Given the description of an element on the screen output the (x, y) to click on. 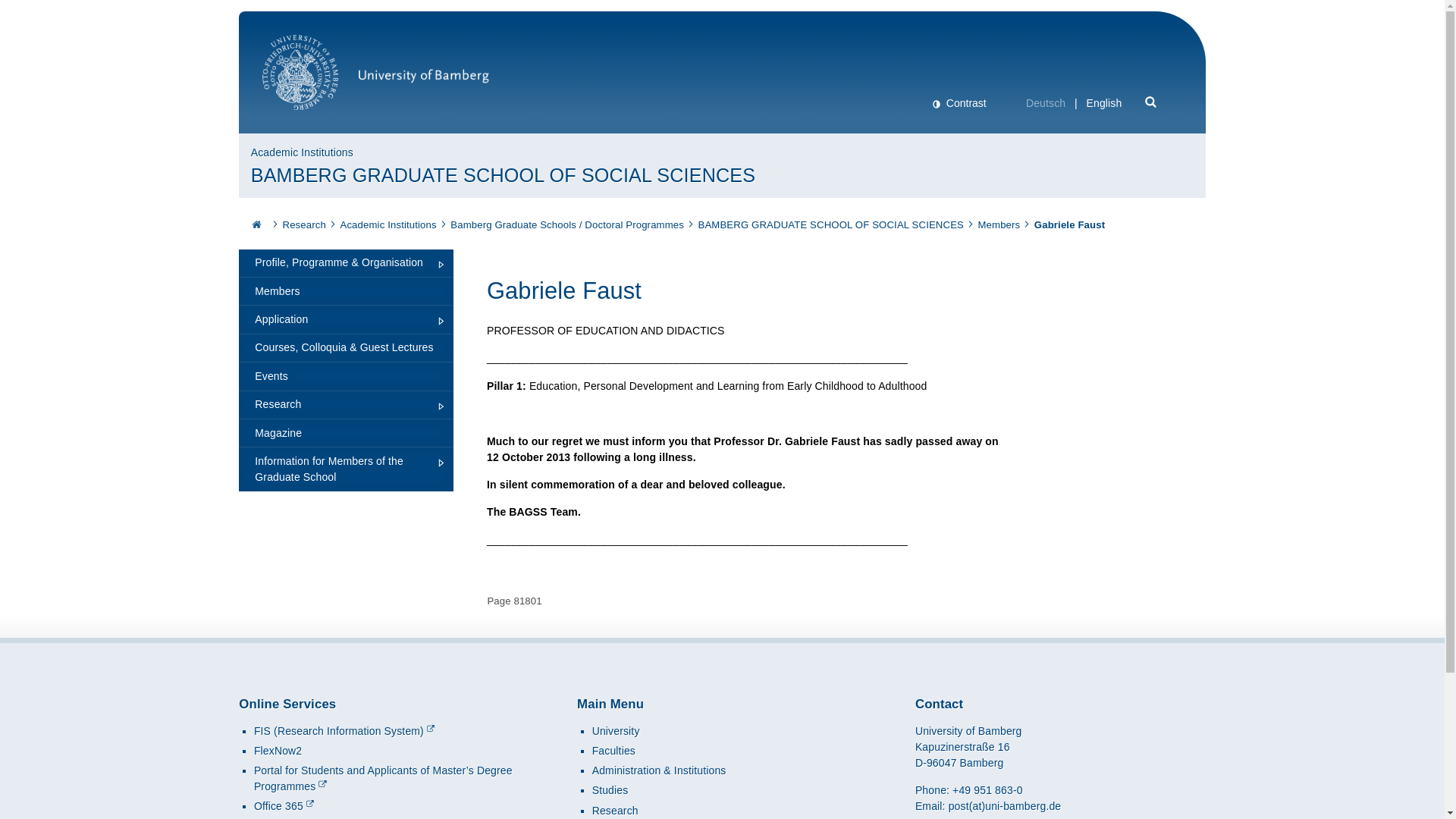
Contrast (959, 103)
  University of Bamberg (375, 79)
Research (304, 224)
Academic Institutions (301, 152)
BAMBERG GRADUATE SCHOOL OF SOCIAL SCIENCES (830, 224)
Academic Institutions (387, 224)
Deutsch (1045, 103)
BAMBERG GRADUATE SCHOOL OF SOCIAL SCIENCES (830, 224)
Members (999, 224)
Members (999, 224)
University of Bamberg (375, 79)
Academic Institutions (387, 224)
BAMBERG GRADUATE SCHOOL OF SOCIAL SCIENCES (502, 175)
